Given the description of an element on the screen output the (x, y) to click on. 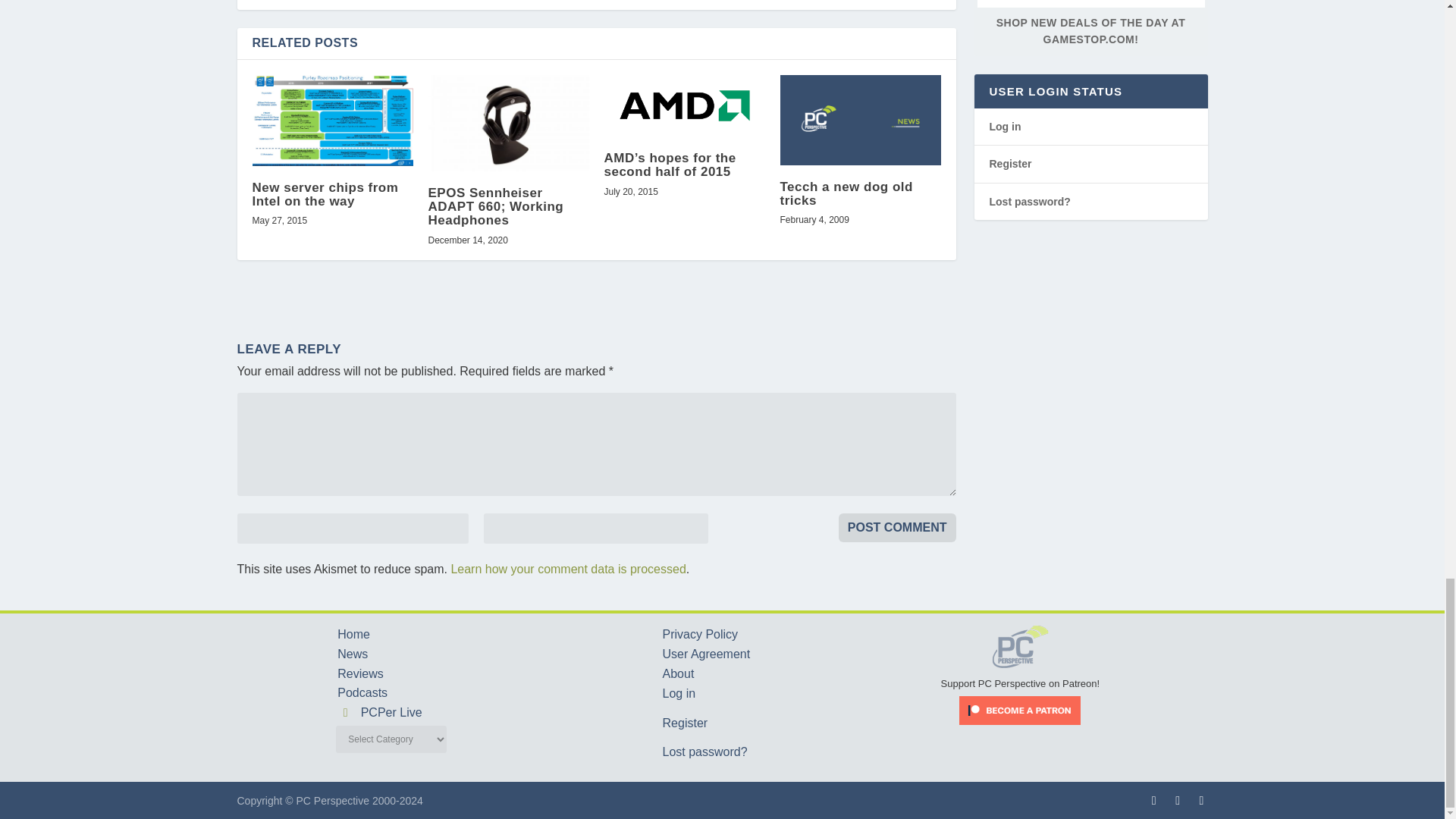
Post Comment (897, 527)
Support PC Perspective on Patreon! (1020, 676)
New server chips from Intel on the way (331, 120)
EPOS Sennheiser ADAPT 660; Working Headphones (508, 123)
